Given the description of an element on the screen output the (x, y) to click on. 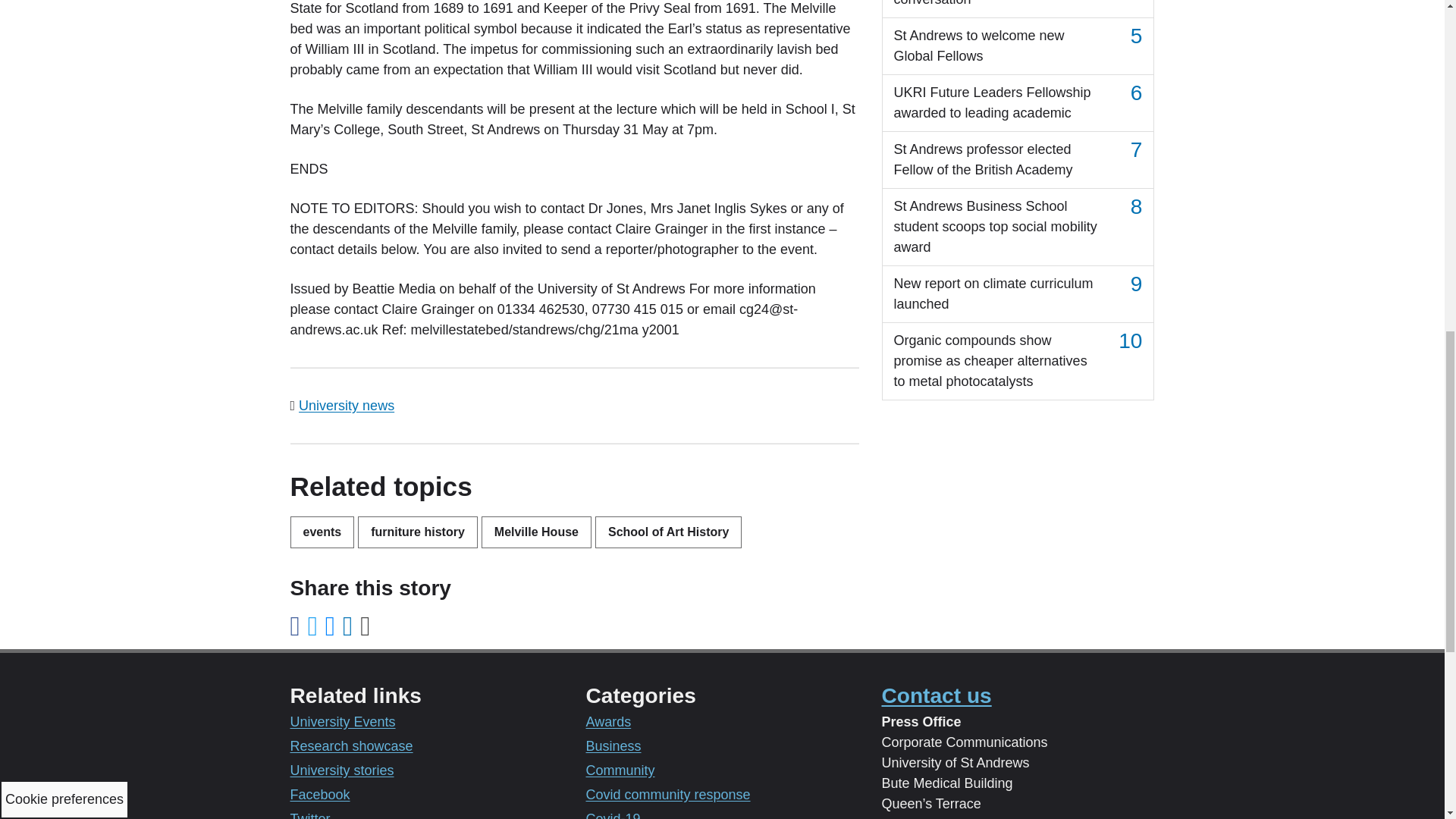
events (321, 531)
furniture history (417, 531)
School of Art History (668, 531)
Melville House (536, 531)
University news (346, 405)
